Given the description of an element on the screen output the (x, y) to click on. 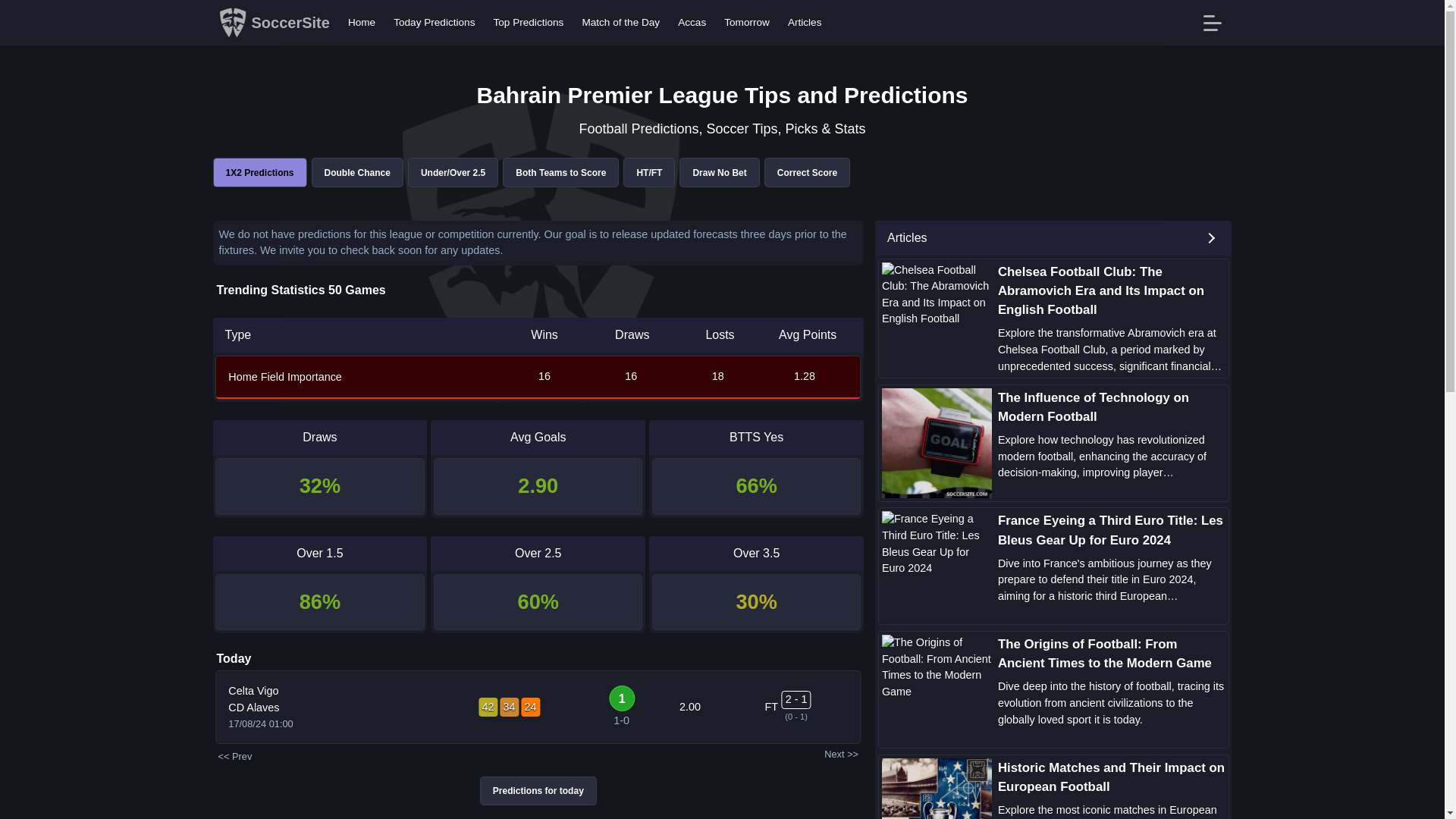
bahrain premier league correct score tips and predictions (806, 172)
Tomorrow (746, 22)
Match of the Day (620, 22)
bahrain premier league draw no bet tips and predictions (718, 172)
SoccerSite (273, 22)
bahrain premier league double chance tips and predictions (358, 172)
football predictions (273, 22)
Articles (804, 22)
football predictions tips and picks for today (537, 791)
bahrain premier league tips and predictions (259, 172)
